Given the description of an element on the screen output the (x, y) to click on. 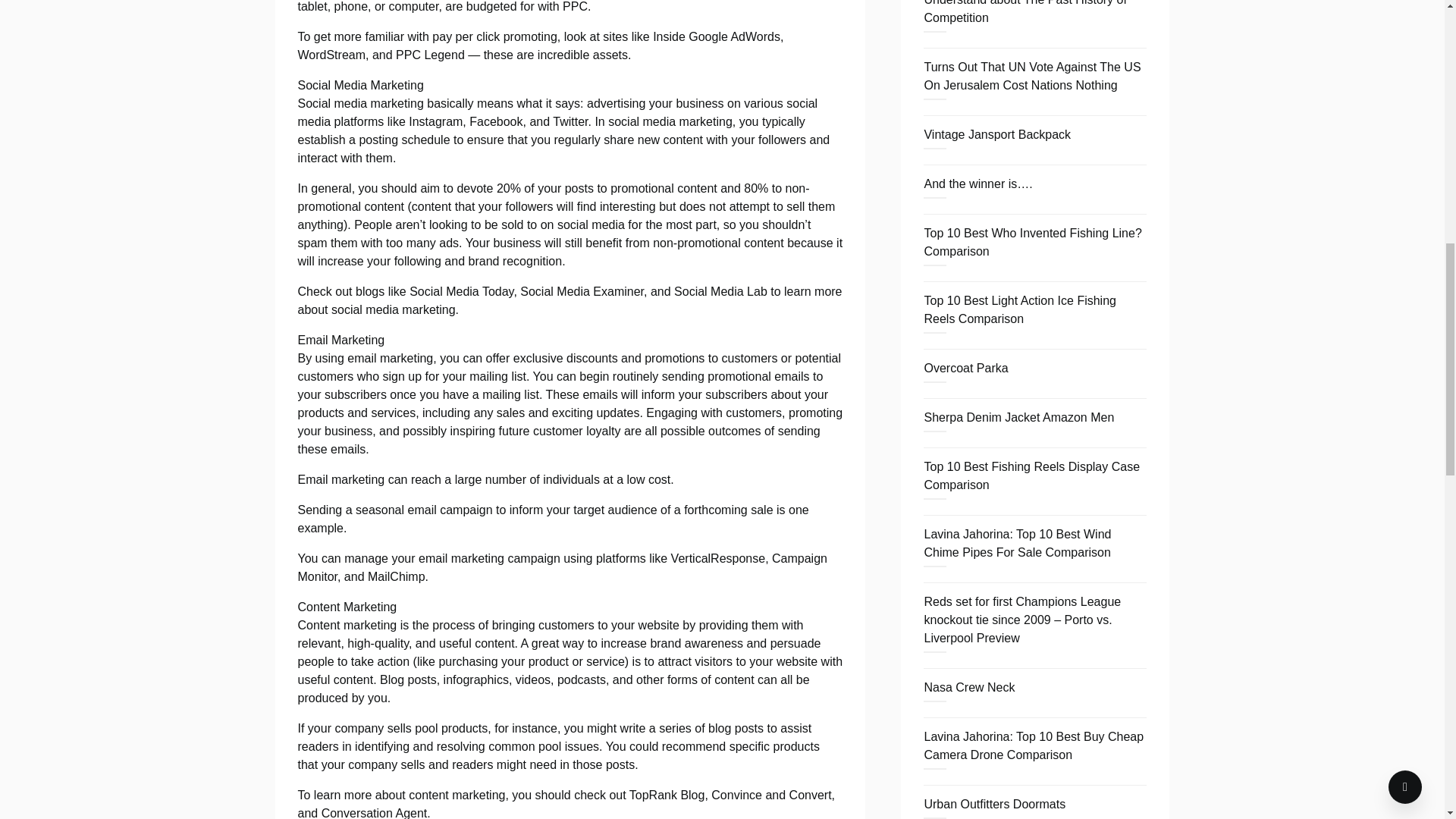
Urban Outfitters Doormats (994, 803)
Top 10 Best Fishing Reels Display Case Comparison (1031, 475)
Understand about The Past History of Competition (1024, 12)
Top 10 Best Who Invented Fishing Line? Comparison (1032, 241)
Overcoat Parka (965, 367)
Top 10 Best Light Action Ice Fishing Reels Comparison (1019, 309)
Nasa Crew Neck (968, 686)
Vintage Jansport Backpack (996, 133)
